Given the description of an element on the screen output the (x, y) to click on. 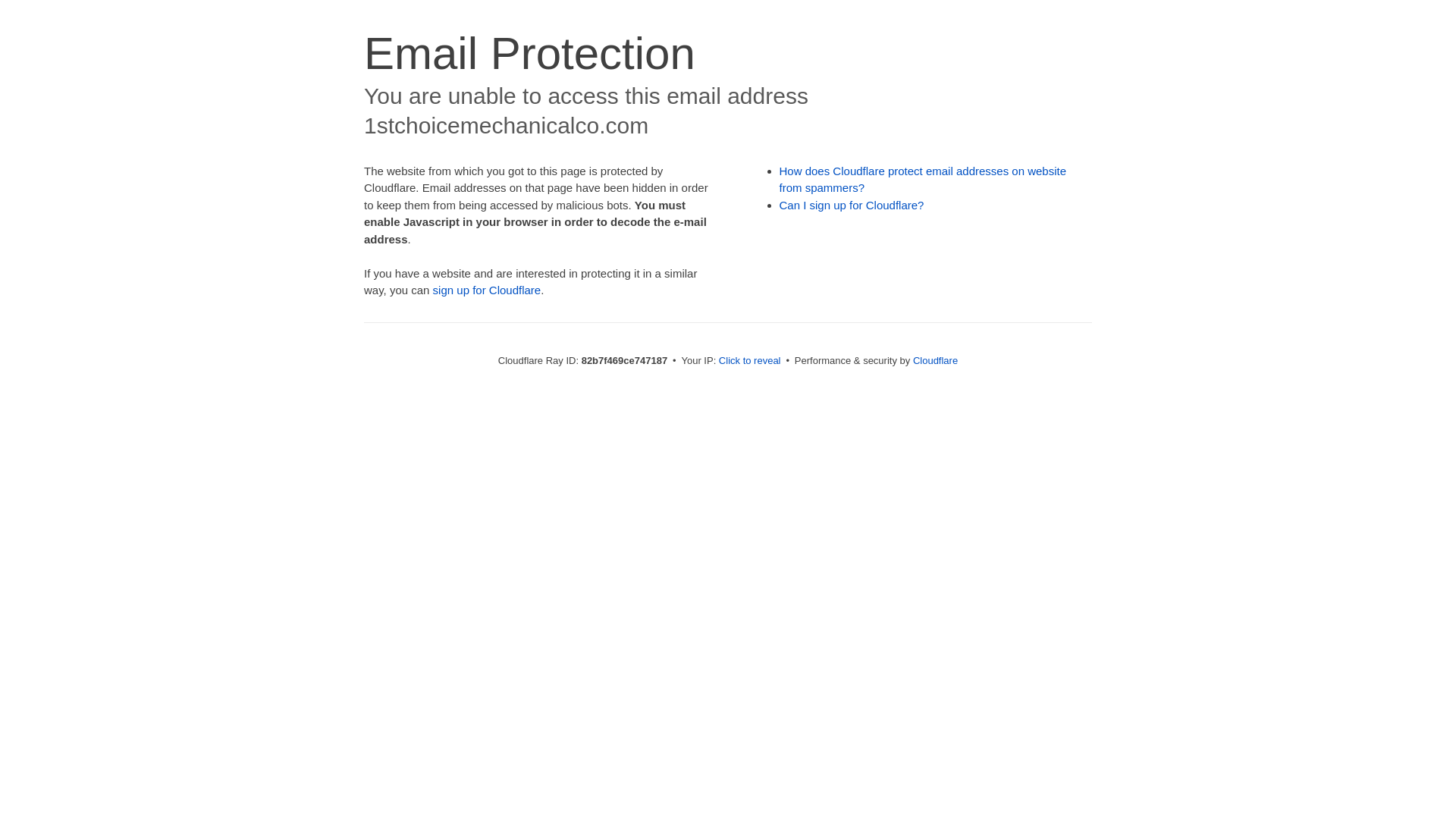
sign up for Cloudflare Element type: text (487, 289)
Can I sign up for Cloudflare? Element type: text (851, 204)
Click to reveal Element type: text (749, 360)
Cloudflare Element type: text (935, 360)
